Given the description of an element on the screen output the (x, y) to click on. 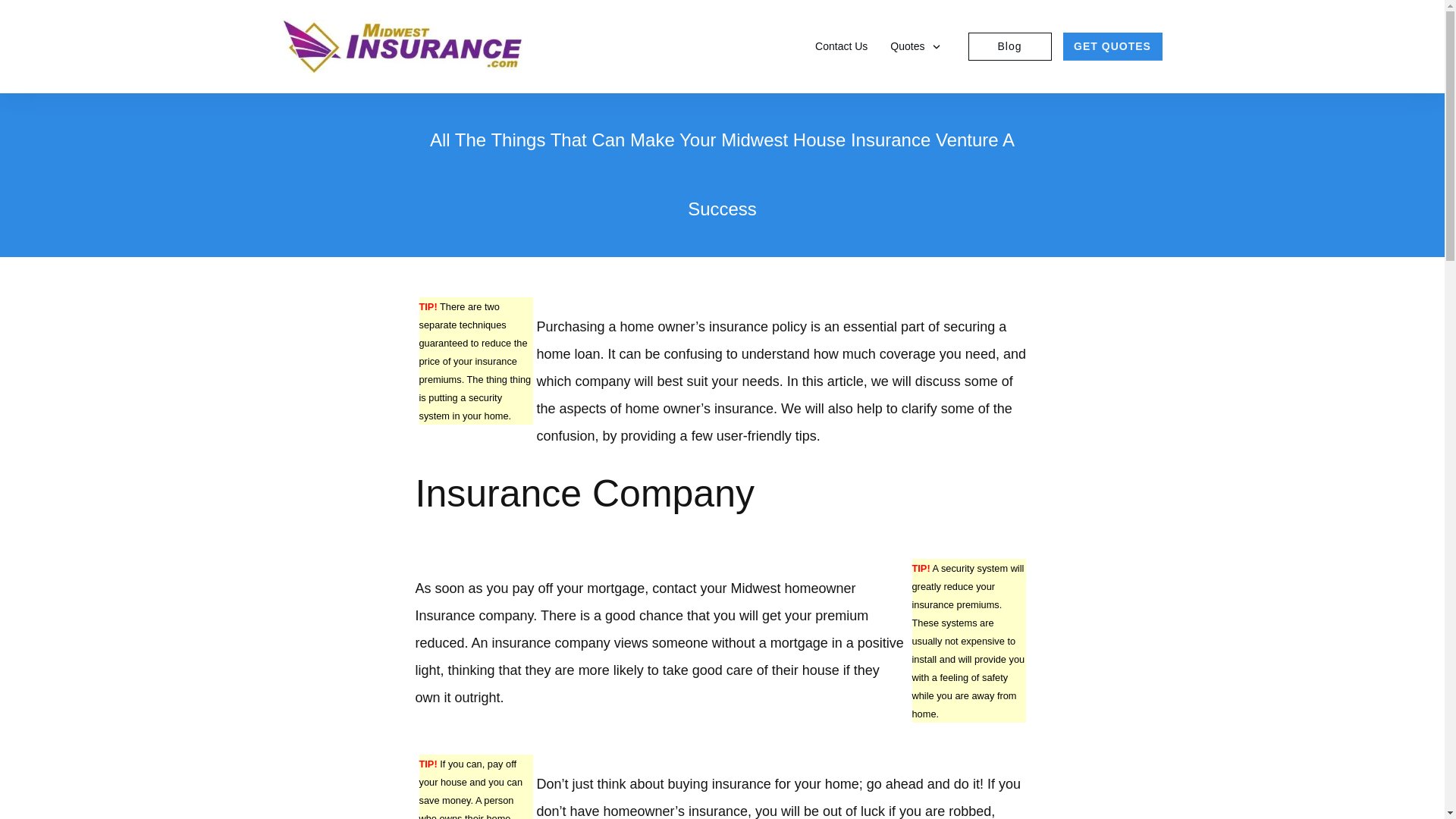
Quotes (914, 46)
GET QUOTES (1111, 46)
Contact Us (841, 46)
Blog (1010, 46)
